Given the description of an element on the screen output the (x, y) to click on. 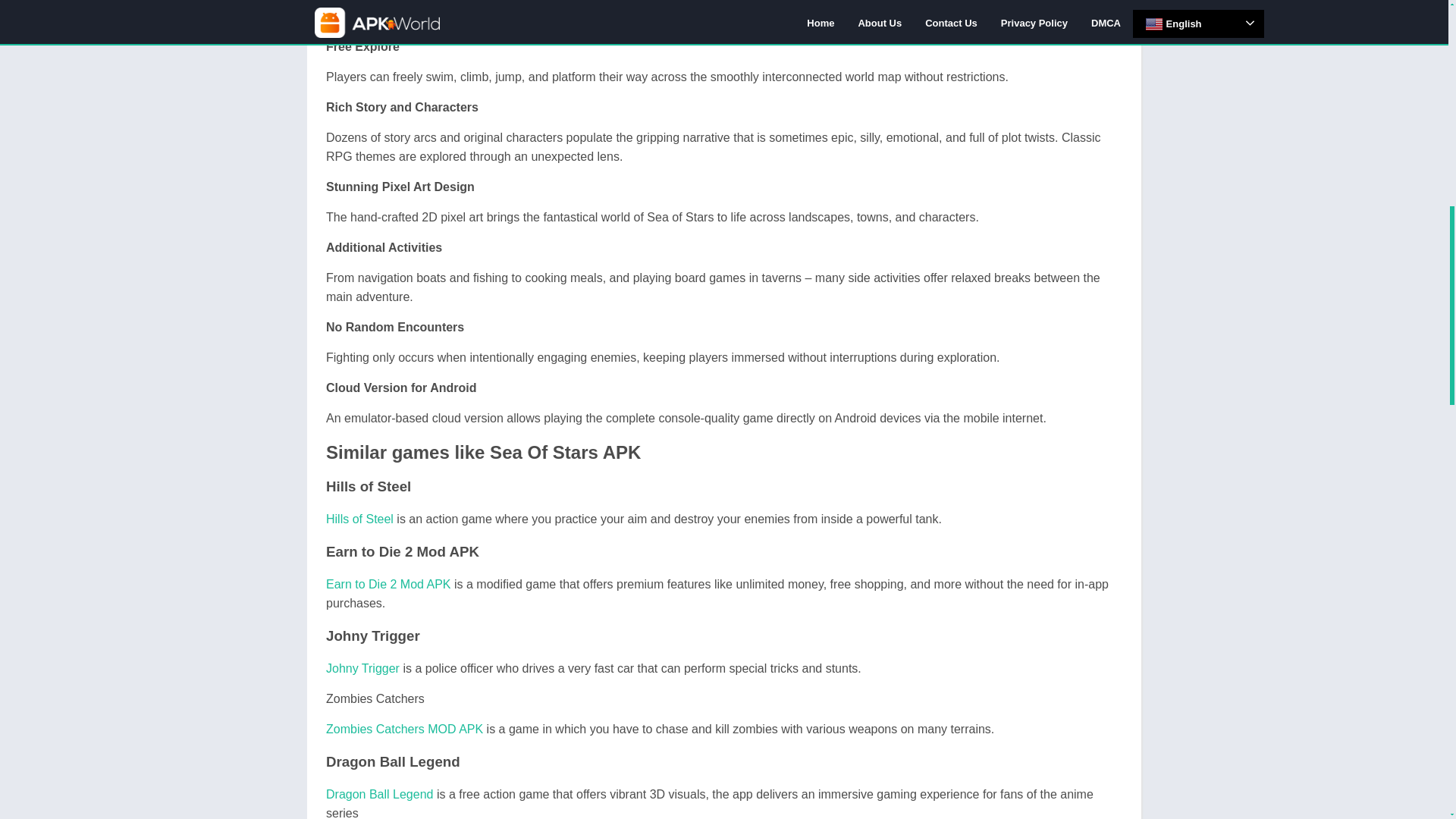
Hills of Steel (359, 518)
Johny Trigger (362, 667)
Zombies Catchers MOD APK (404, 728)
Dragon Ball Legend (379, 793)
Earn to Die 2 Mod APK (388, 584)
